Given the description of an element on the screen output the (x, y) to click on. 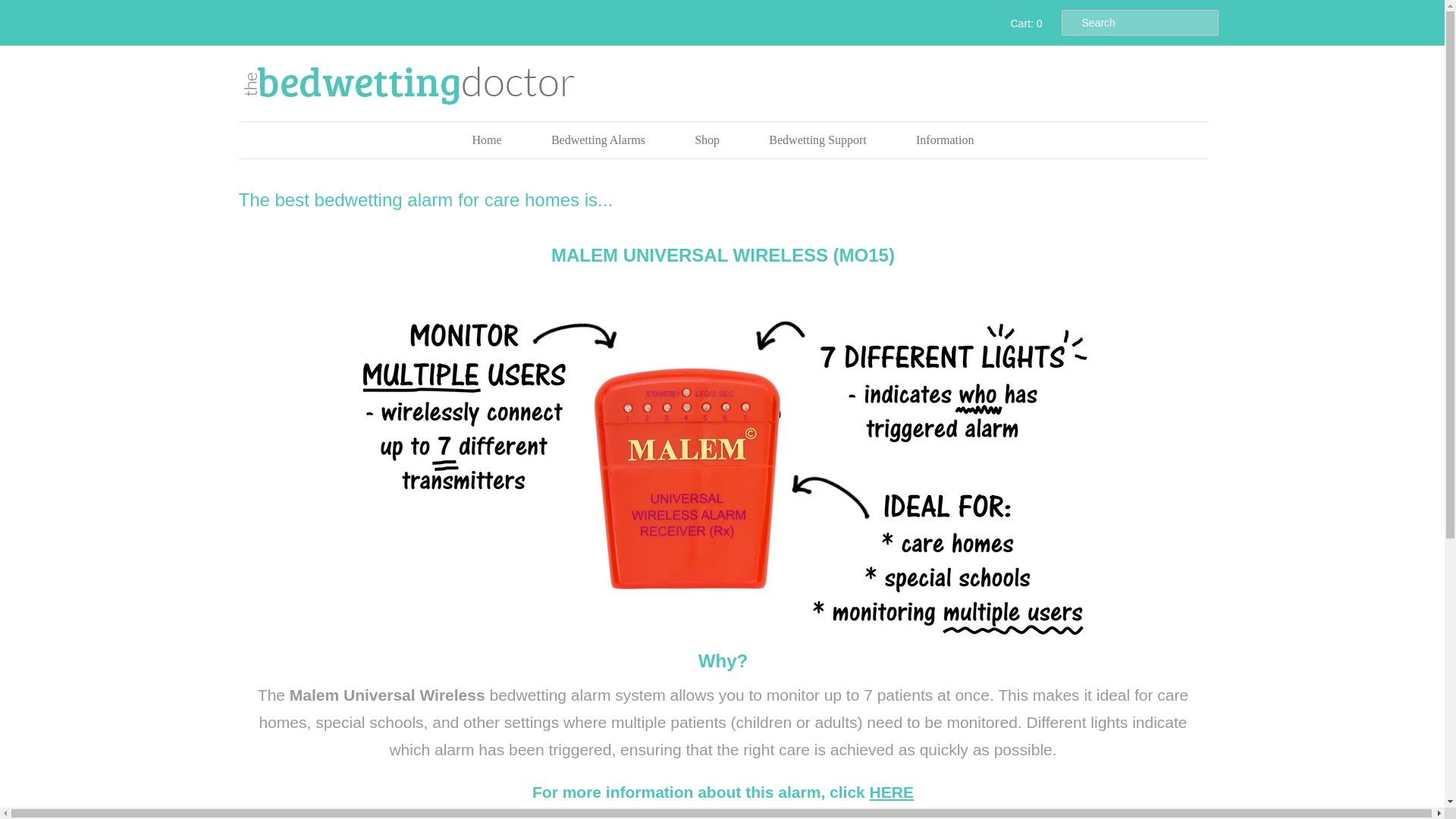
Malem Universal Wireless bedwetting alarm (723, 254)
Shopping Cart (1024, 23)
Malem Universal Wireless Bedwetting Alarm (891, 791)
Bedwetting Alarms (597, 140)
Cart: 0 (1024, 23)
Home (486, 140)
